Given the description of an element on the screen output the (x, y) to click on. 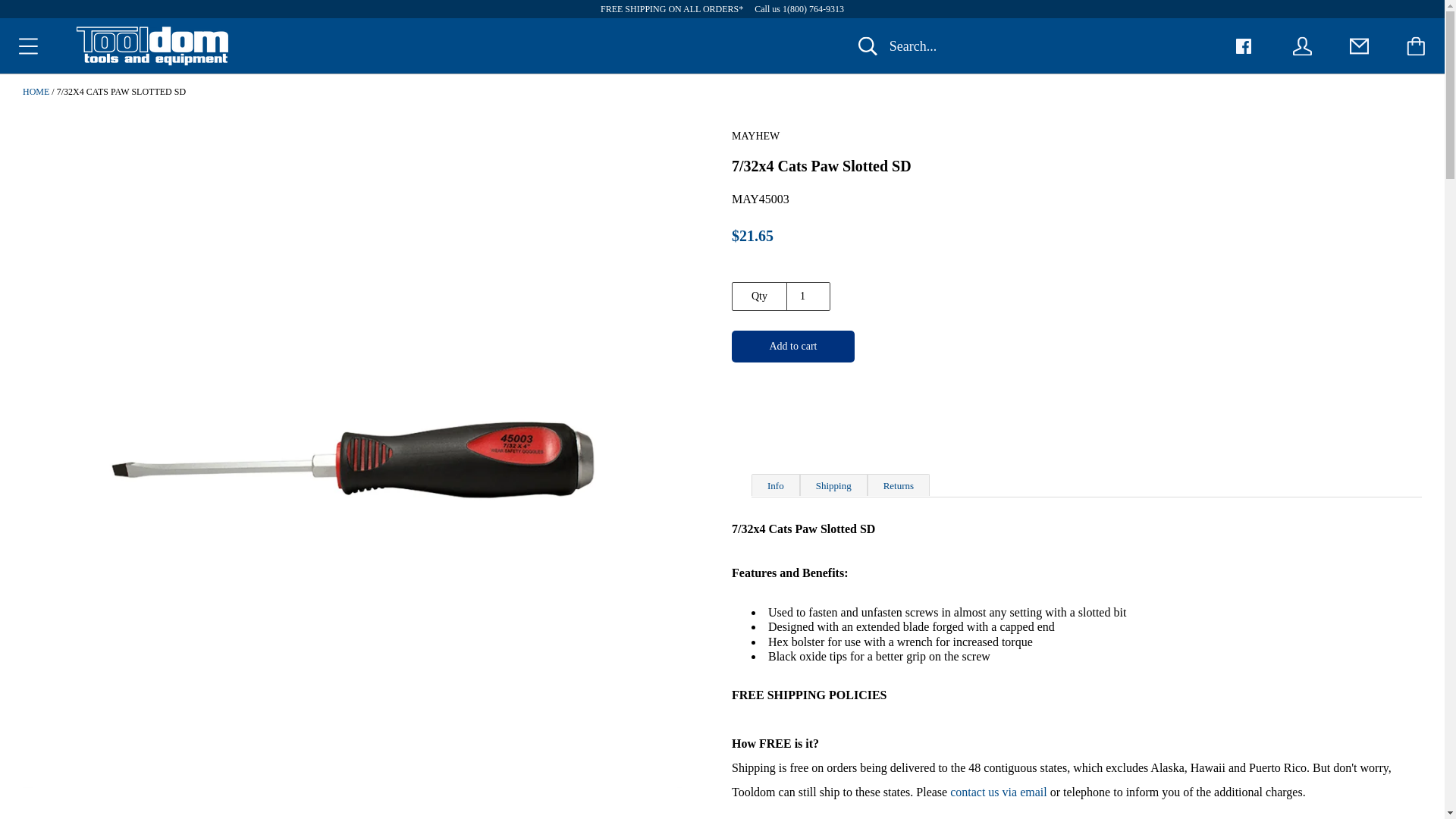
1 (808, 296)
